Given the description of an element on the screen output the (x, y) to click on. 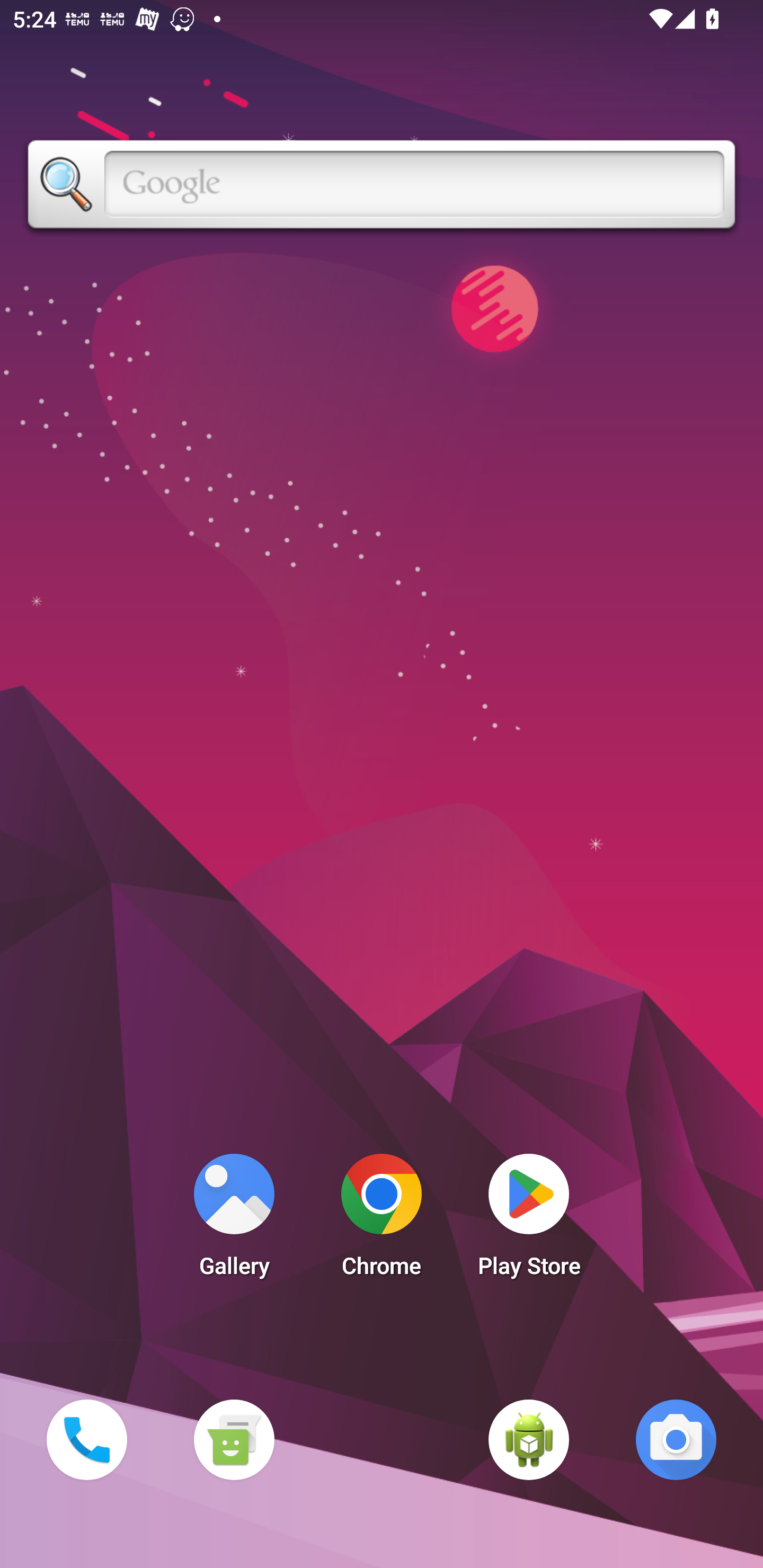
Gallery (233, 1220)
Chrome (381, 1220)
Play Store (528, 1220)
Phone (86, 1439)
Messaging (233, 1439)
WebView Browser Tester (528, 1439)
Camera (676, 1439)
